Given the description of an element on the screen output the (x, y) to click on. 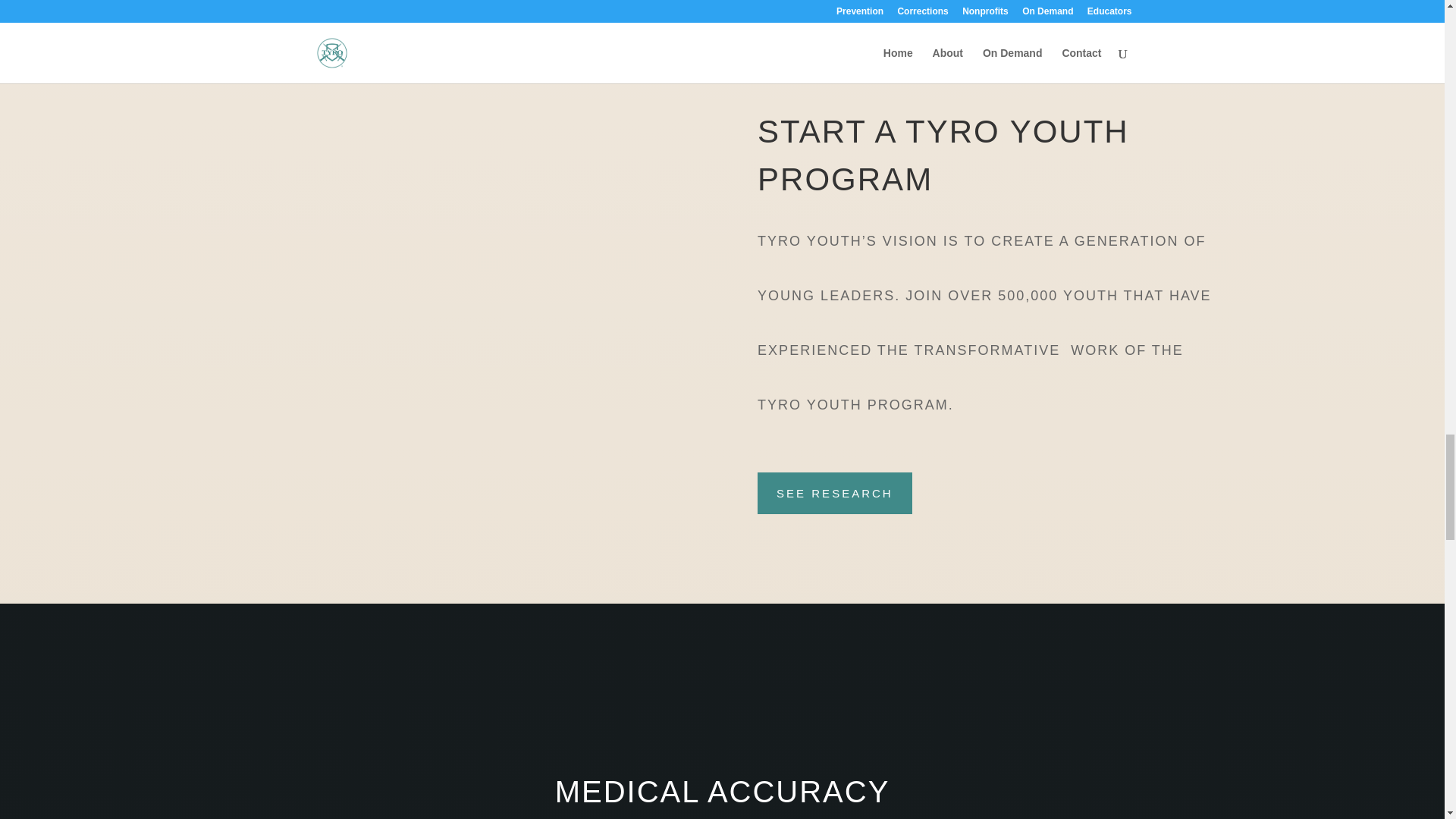
SEE RESEARCH (834, 493)
